Given the description of an element on the screen output the (x, y) to click on. 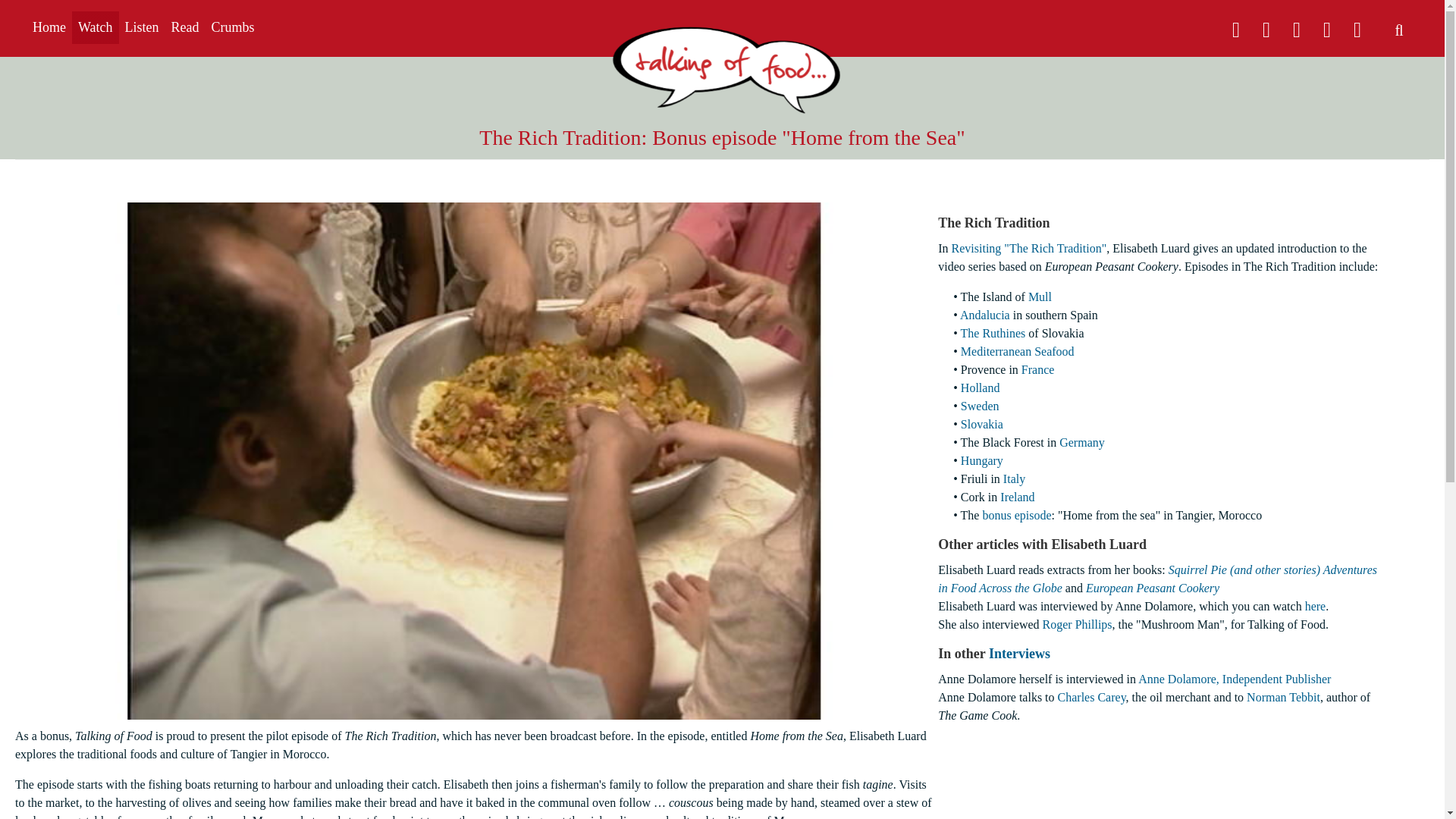
Watch (95, 27)
Listen (142, 27)
Crumbs (232, 27)
Home (48, 27)
Read (185, 27)
